Given the description of an element on the screen output the (x, y) to click on. 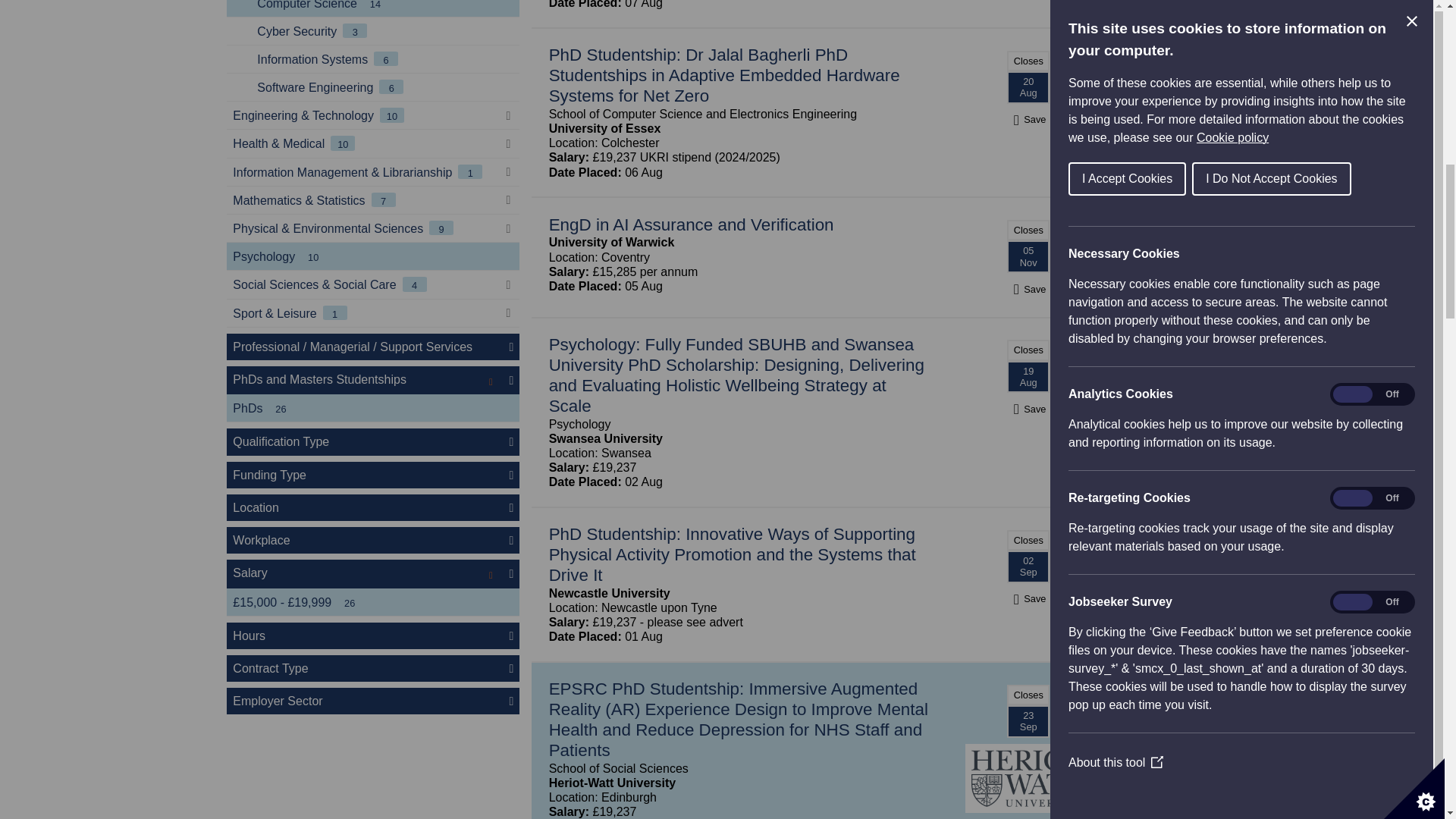
Save job (1027, 119)
Save job (1027, 408)
Save job (1027, 598)
Save job (1027, 288)
